Given the description of an element on the screen output the (x, y) to click on. 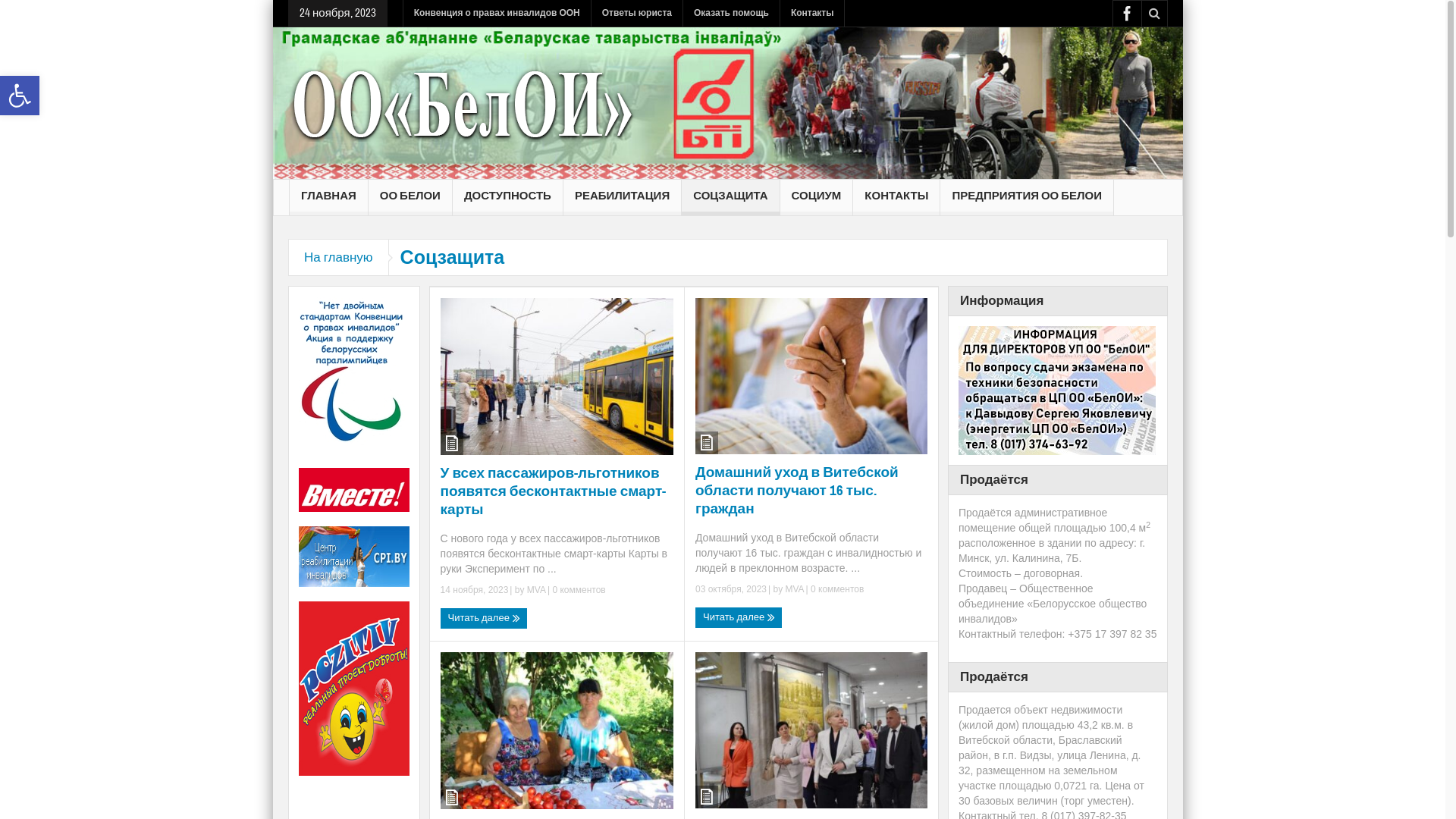
MVA Element type: text (536, 589)
MVA Element type: text (793, 588)
